Given the description of an element on the screen output the (x, y) to click on. 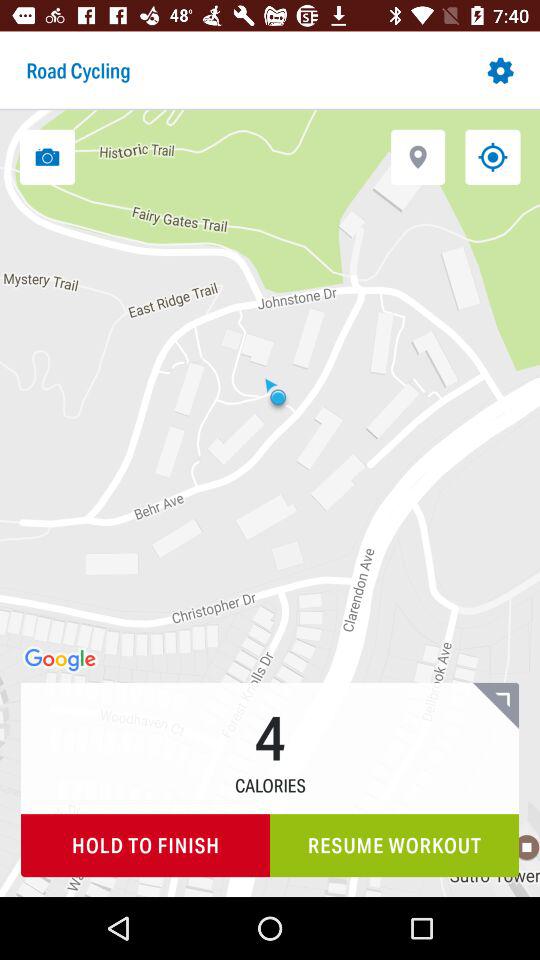
launch item to the left of the resume workout icon (145, 845)
